Given the description of an element on the screen output the (x, y) to click on. 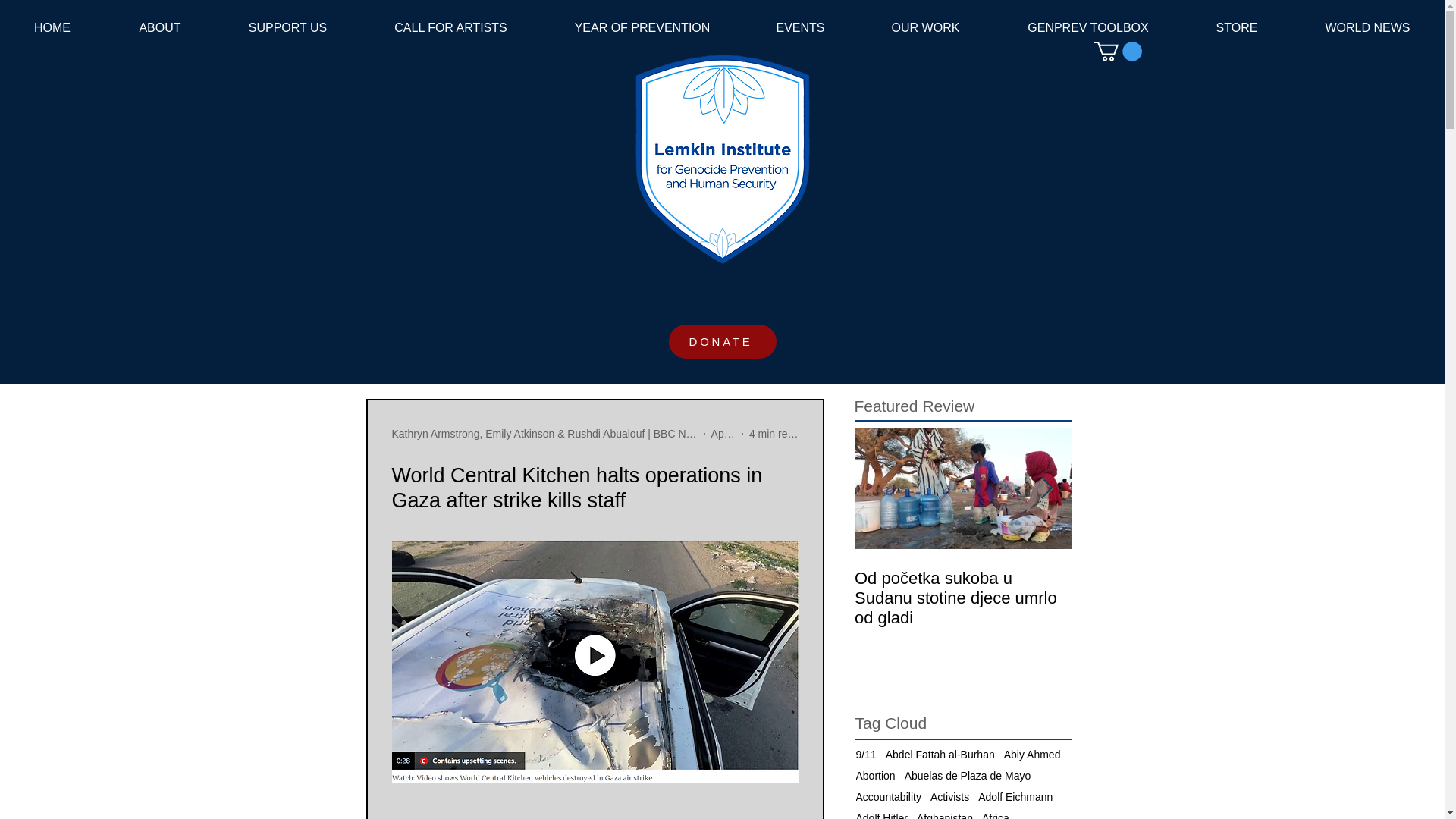
HOME (52, 27)
SUPPORT US (287, 27)
CALL FOR ARTISTS (450, 27)
DONATE (722, 341)
New logo - Gotham Font bolded.png (721, 157)
STORE (1236, 27)
YEAR OF PREVENTION (641, 27)
EVENTS (799, 27)
4 min read (774, 433)
Apr 2 (723, 433)
